Given the description of an element on the screen output the (x, y) to click on. 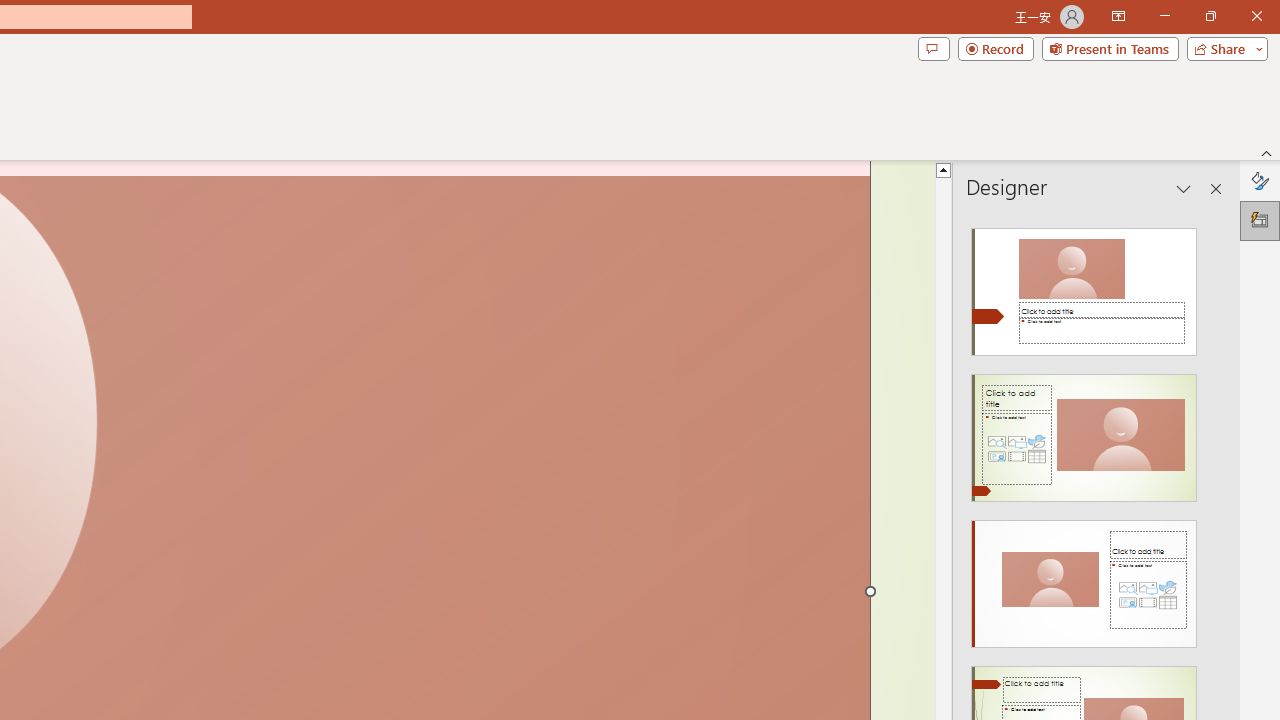
Recommended Design: Design Idea (1083, 286)
